Given the description of an element on the screen output the (x, y) to click on. 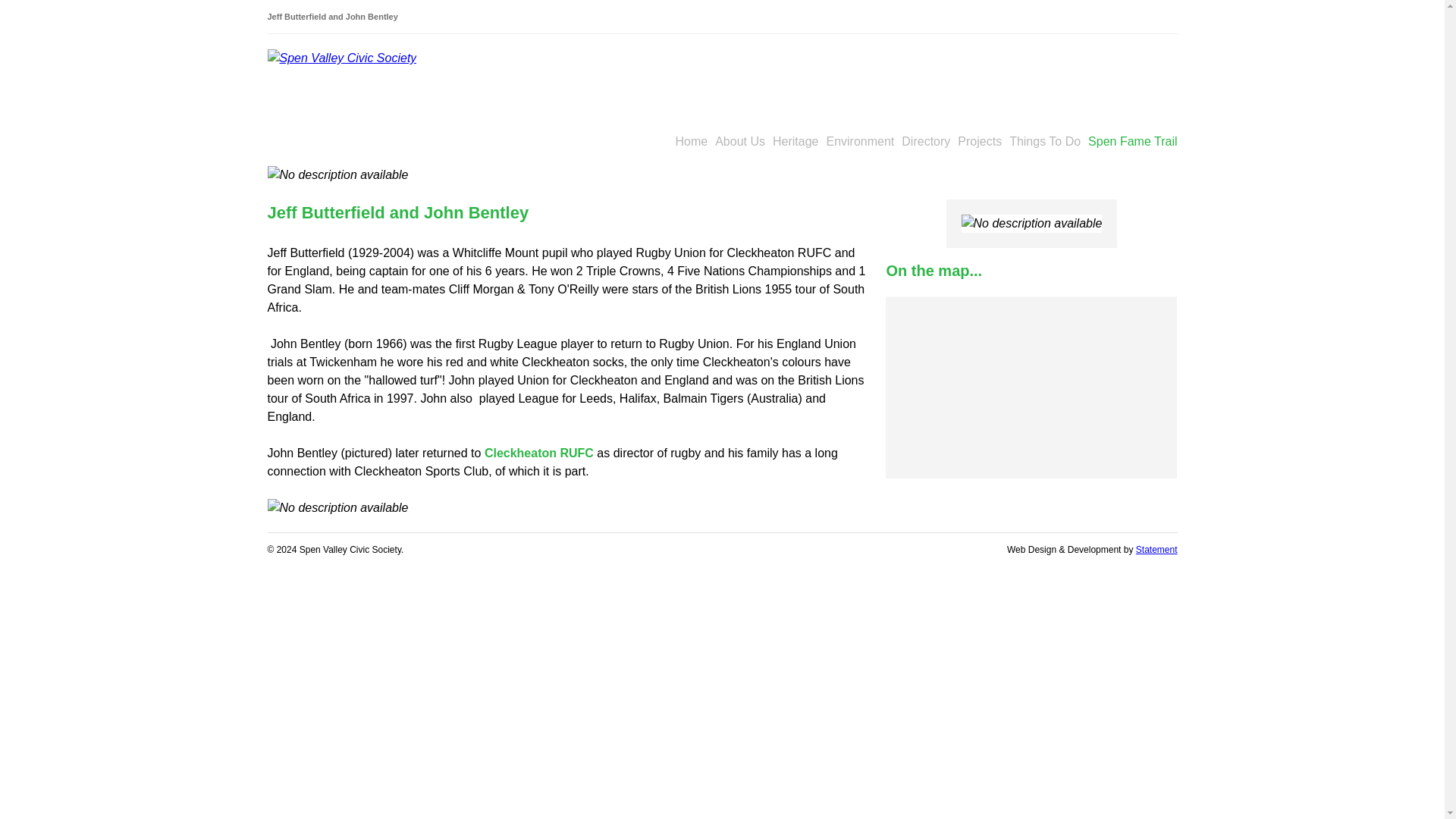
Home (691, 141)
Things To Do (1044, 141)
Spen Fame Trail (1131, 141)
Cleckheaton RUFC (539, 452)
Directory (925, 141)
Spen Fame Trail (1131, 141)
Projects (979, 141)
Things To Do (1044, 141)
About Us (739, 141)
Statement (1156, 549)
